Given the description of an element on the screen output the (x, y) to click on. 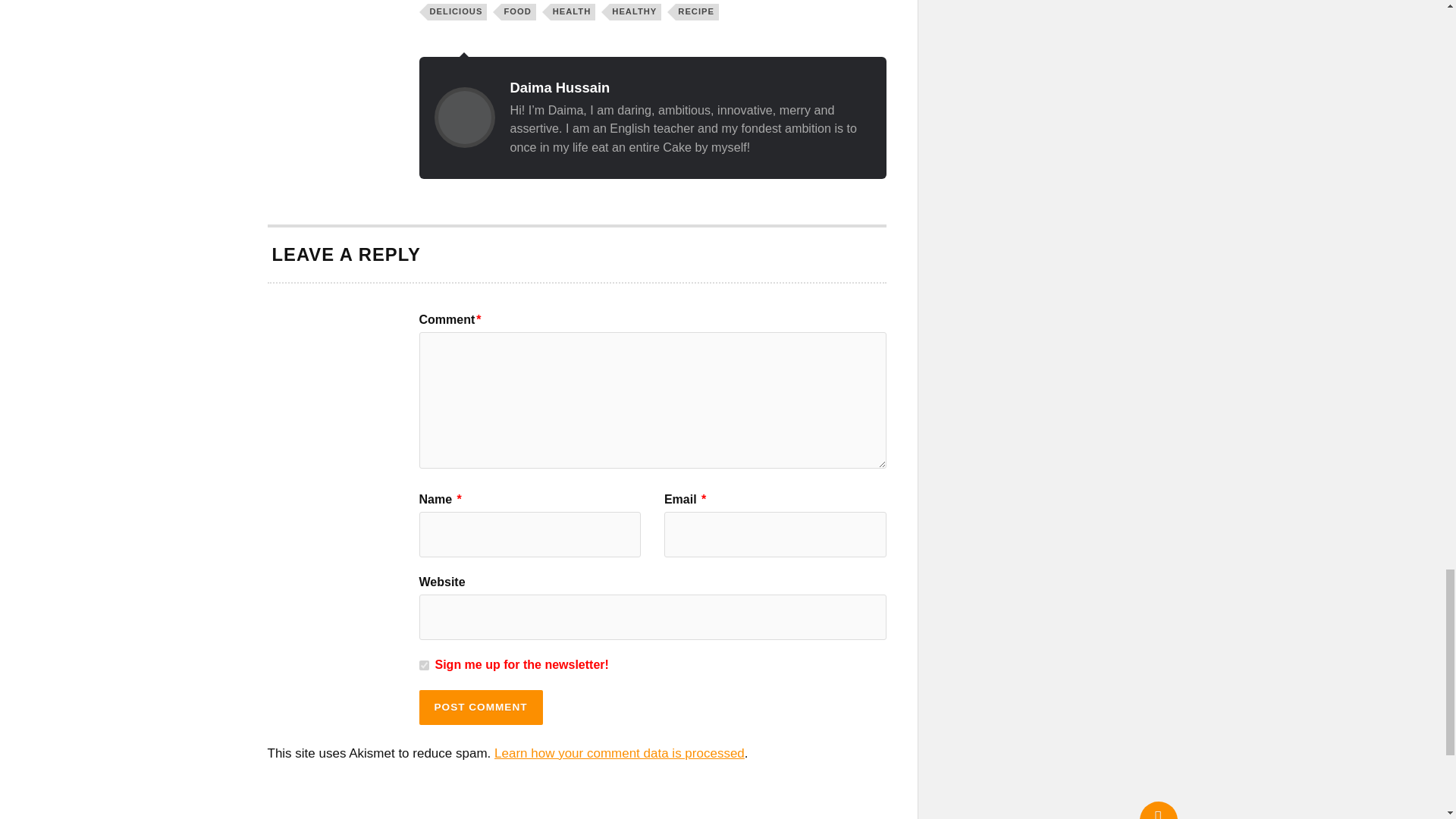
Post Comment (480, 707)
1 (423, 665)
